Given the description of an element on the screen output the (x, y) to click on. 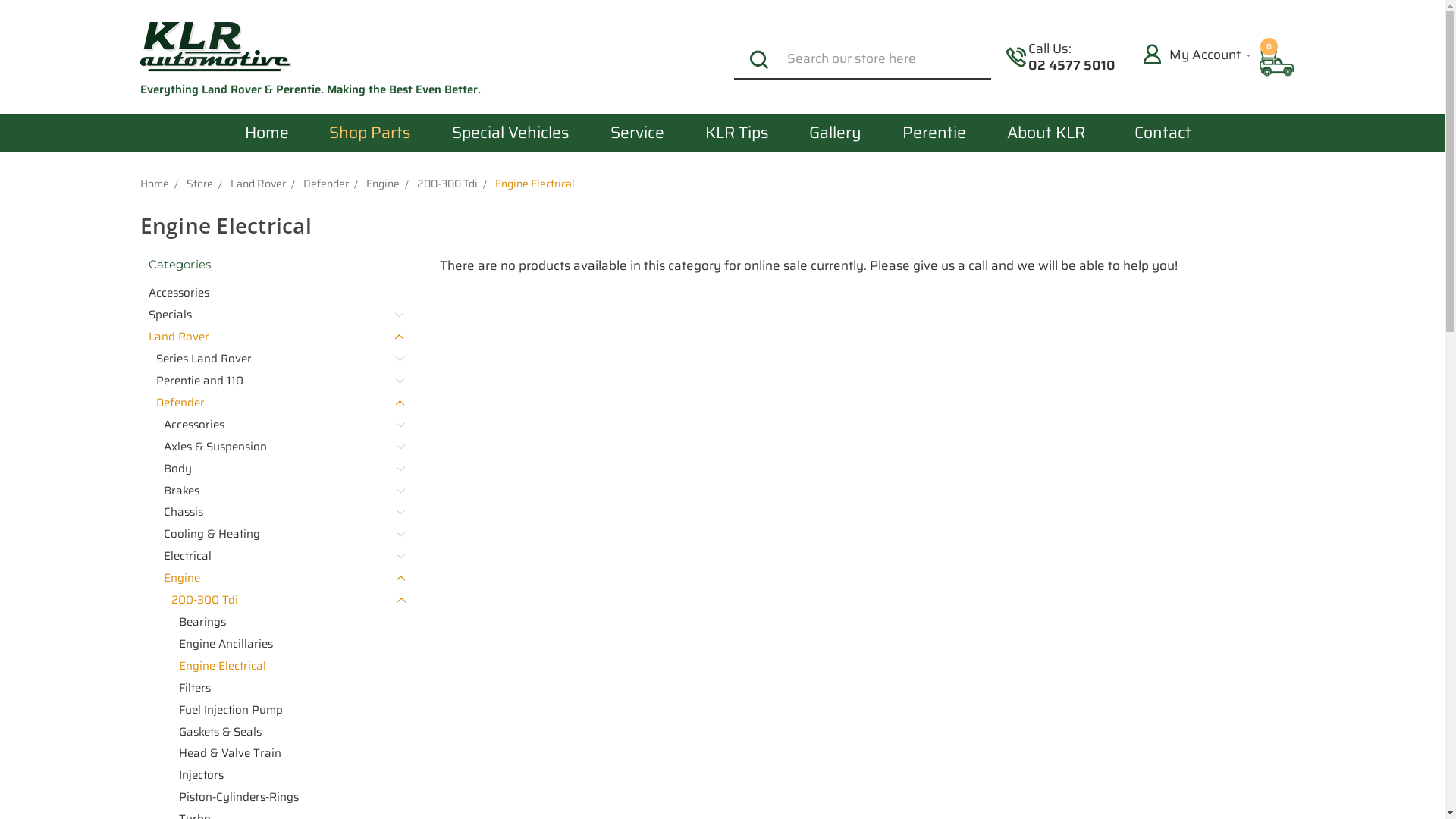
Shop Parts Element type: text (370, 133)
Chassis Element type: text (279, 512)
Home Element type: text (266, 133)
Perentie and 110 Element type: text (275, 381)
Cooling & Heating Element type: text (279, 534)
Electrical Element type: text (279, 556)
Specials Element type: text (271, 315)
Engine Element type: text (279, 578)
Fuel Injection Pump Element type: text (288, 709)
Accessories Element type: text (279, 425)
200-300 Tdi Element type: text (284, 600)
Head & Valve Train Element type: text (288, 753)
Home Element type: text (153, 183)
Service Element type: text (636, 133)
Piston-Cylinders-Rings Element type: text (288, 797)
Land Rover Element type: text (257, 183)
Perentie Element type: text (933, 133)
Gallery Element type: text (835, 133)
Brakes Element type: text (279, 490)
Engine Electrical Element type: text (534, 183)
Defender Element type: text (325, 183)
200-300 Tdi Element type: text (447, 183)
Land Rover Element type: text (271, 337)
Gaskets & Seals Element type: text (288, 731)
About KLR Element type: text (1045, 133)
Axles & Suspension Element type: text (279, 447)
Injectors Element type: text (288, 775)
Engine Ancillaries Element type: text (288, 644)
KLR Tips Element type: text (736, 133)
Store Element type: text (199, 183)
KLR Automotive Element type: hover (215, 46)
Contact Element type: text (1162, 133)
Engine Element type: text (381, 183)
0 Element type: text (1276, 63)
Bearings Element type: text (288, 622)
Accessories Element type: text (271, 293)
Engine Electrical Element type: text (288, 666)
Special Vehicles Element type: text (510, 133)
Body Element type: text (279, 468)
02 4577 5010 Element type: text (1071, 65)
Filters Element type: text (288, 687)
Series Land Rover Element type: text (275, 359)
Defender Element type: text (275, 403)
My Account Element type: text (1196, 55)
